Given the description of an element on the screen output the (x, y) to click on. 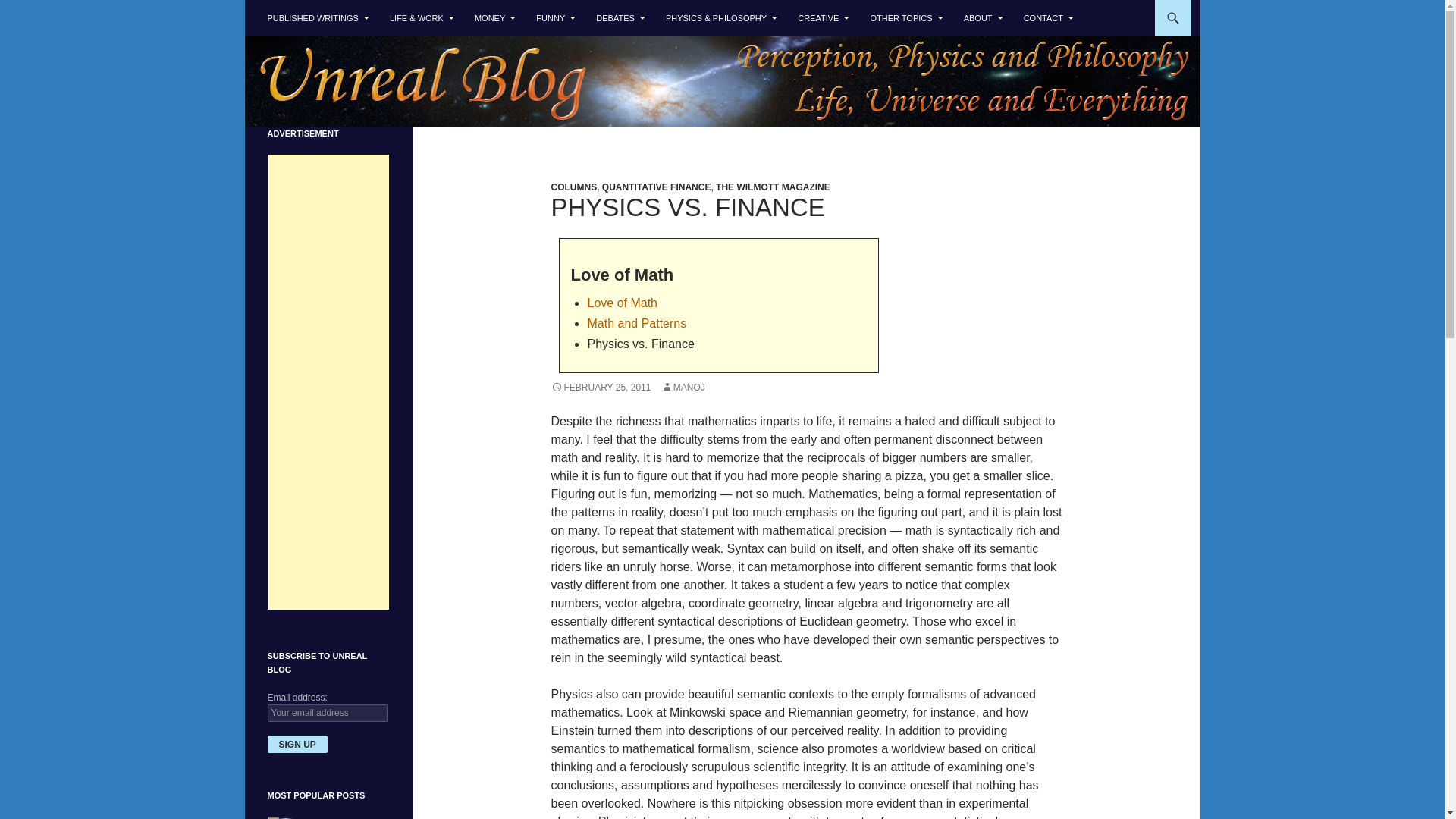
PUBLISHED WRITINGS (317, 18)
Math and Patterns (635, 323)
Sign up (296, 743)
DEBATES (619, 18)
Love of Math (622, 302)
CREATIVE (824, 18)
MONEY (494, 18)
FUNNY (556, 18)
